Given the description of an element on the screen output the (x, y) to click on. 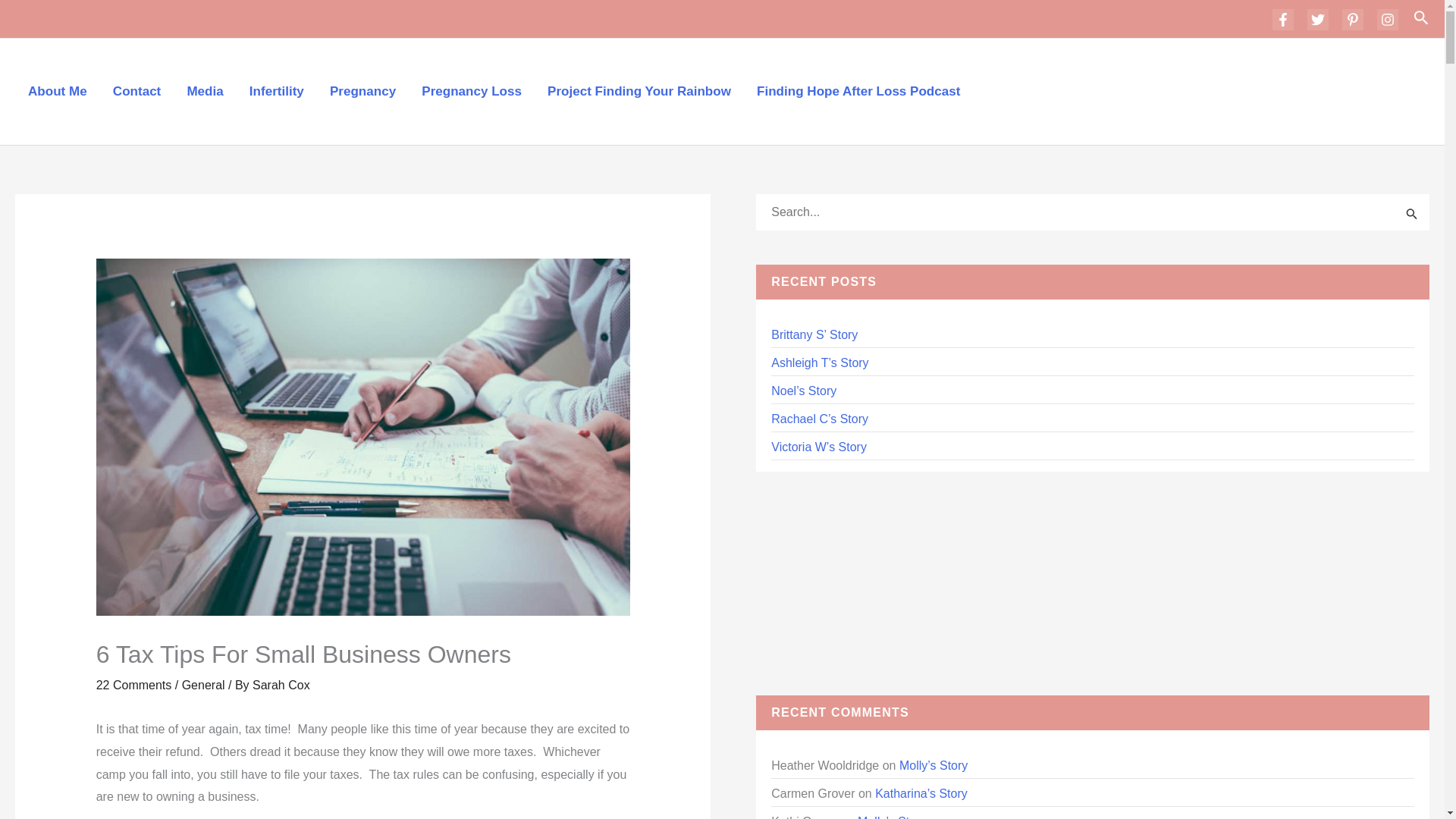
View all posts by Sarah Cox (280, 684)
Finding Hope After Loss Podcast (858, 91)
About Me (57, 91)
Infertility (276, 91)
General (203, 684)
Sarah Cox (280, 684)
Contact (137, 91)
22 Comments (133, 684)
Pregnancy (363, 91)
Project Finding Your Rainbow (639, 91)
